Given the description of an element on the screen output the (x, y) to click on. 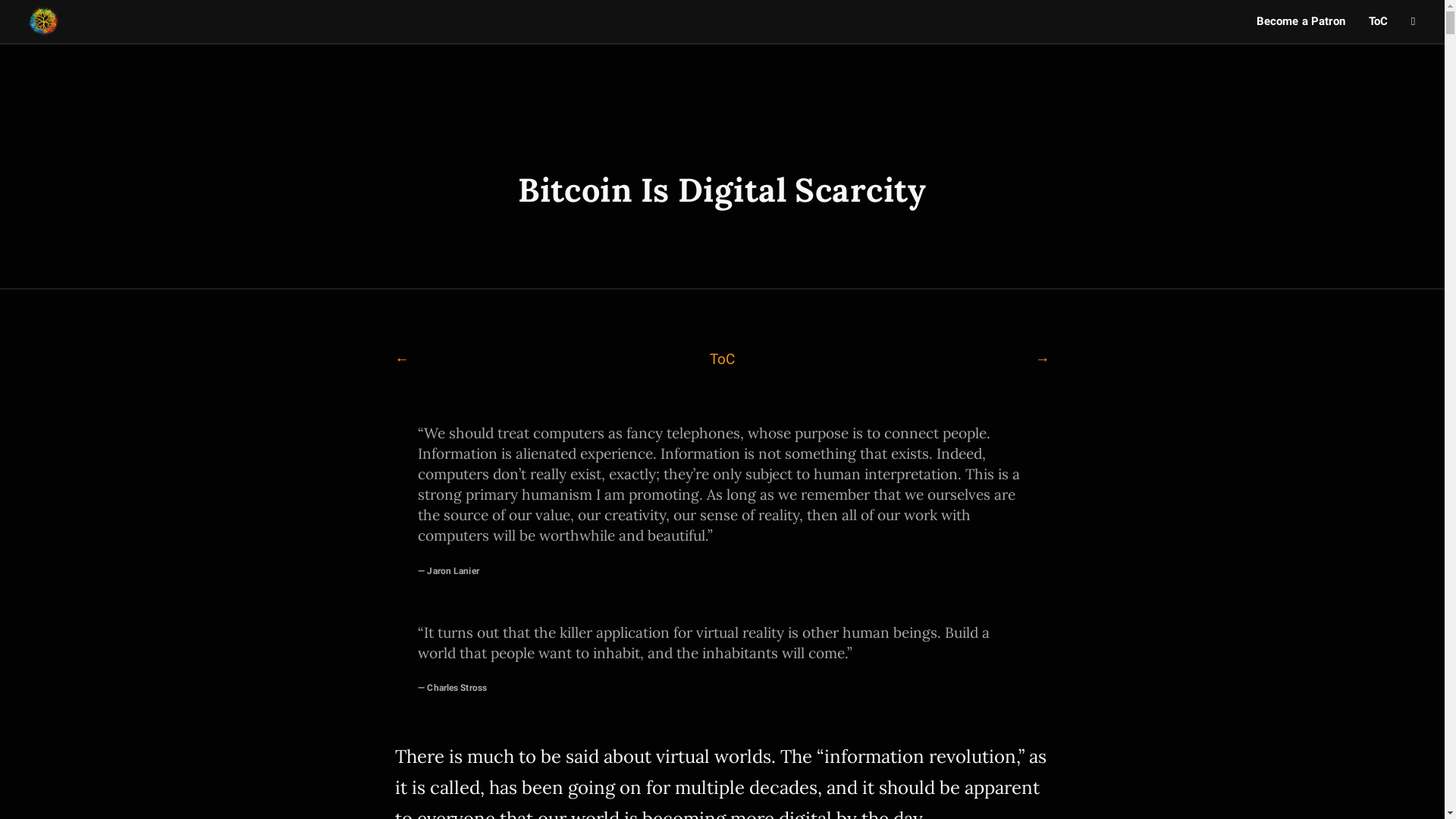
Become a Patron Element type: text (1300, 21)
ToC Element type: text (1377, 21)
Previous Element type: hover (401, 358)
ToC Element type: text (721, 358)
Next Element type: hover (1042, 358)
